Given the description of an element on the screen output the (x, y) to click on. 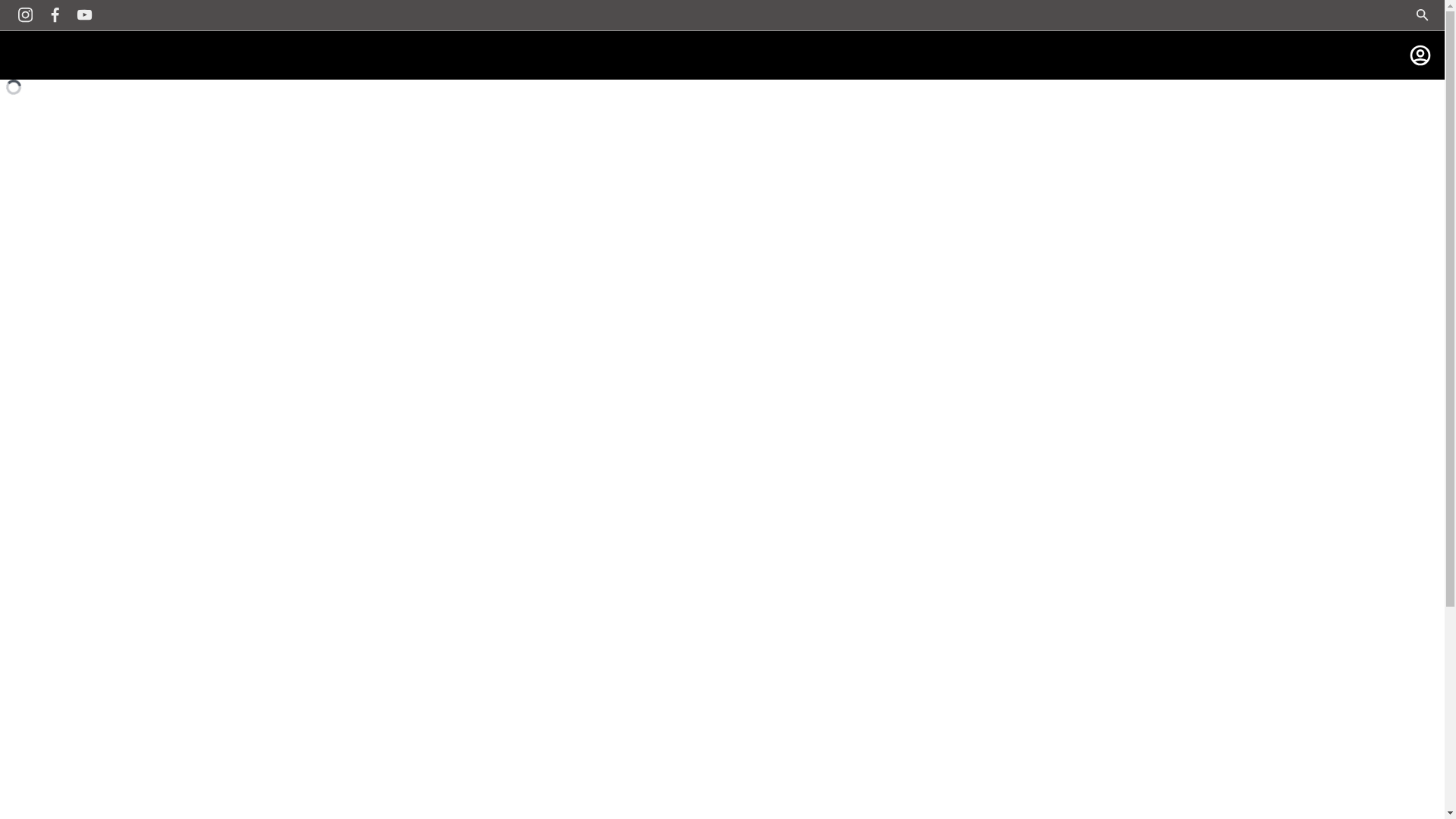
Log In Element type: hover (1420, 55)
